Given the description of an element on the screen output the (x, y) to click on. 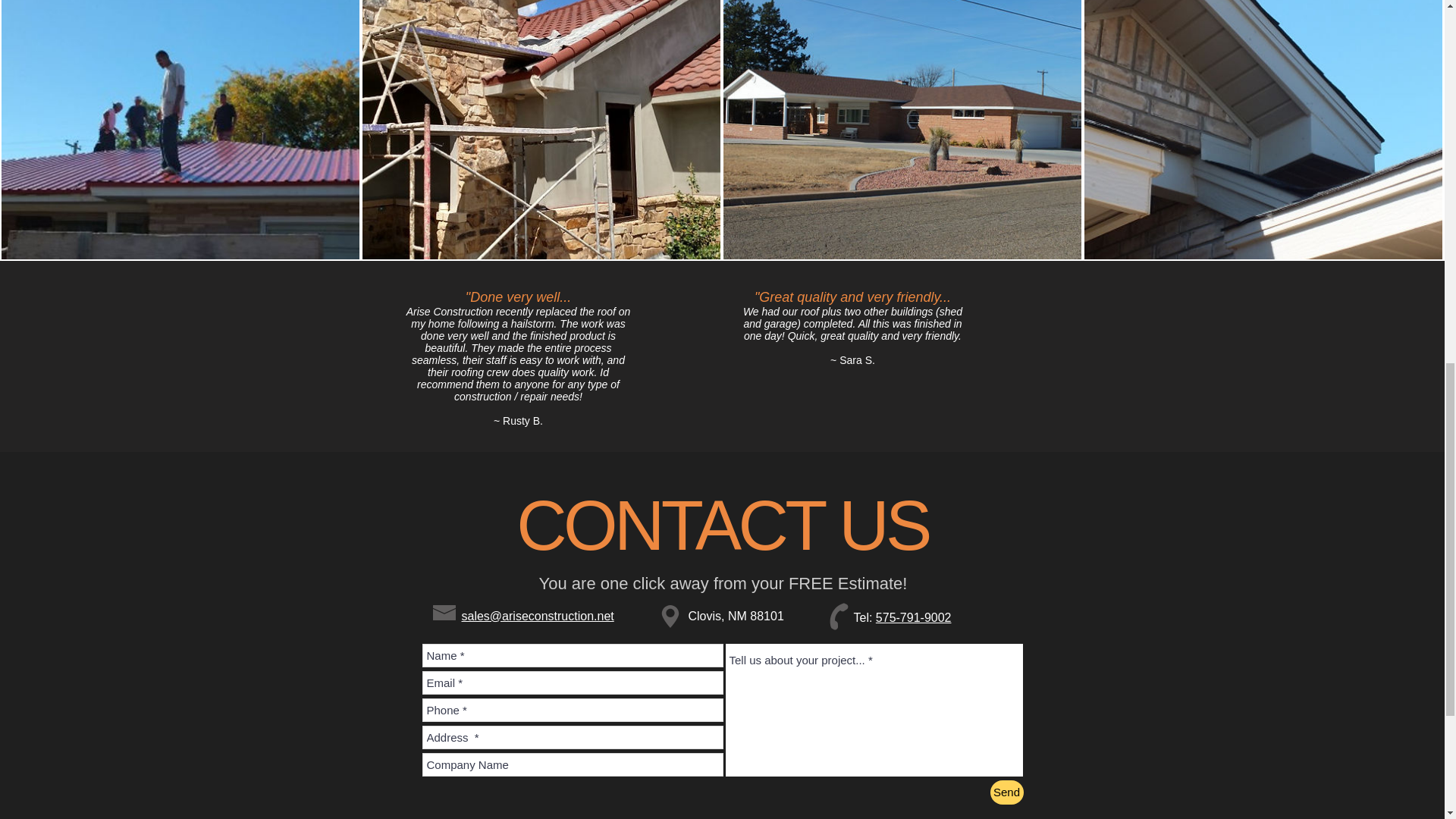
Send (1006, 792)
575-791-9002 (914, 617)
